Given the description of an element on the screen output the (x, y) to click on. 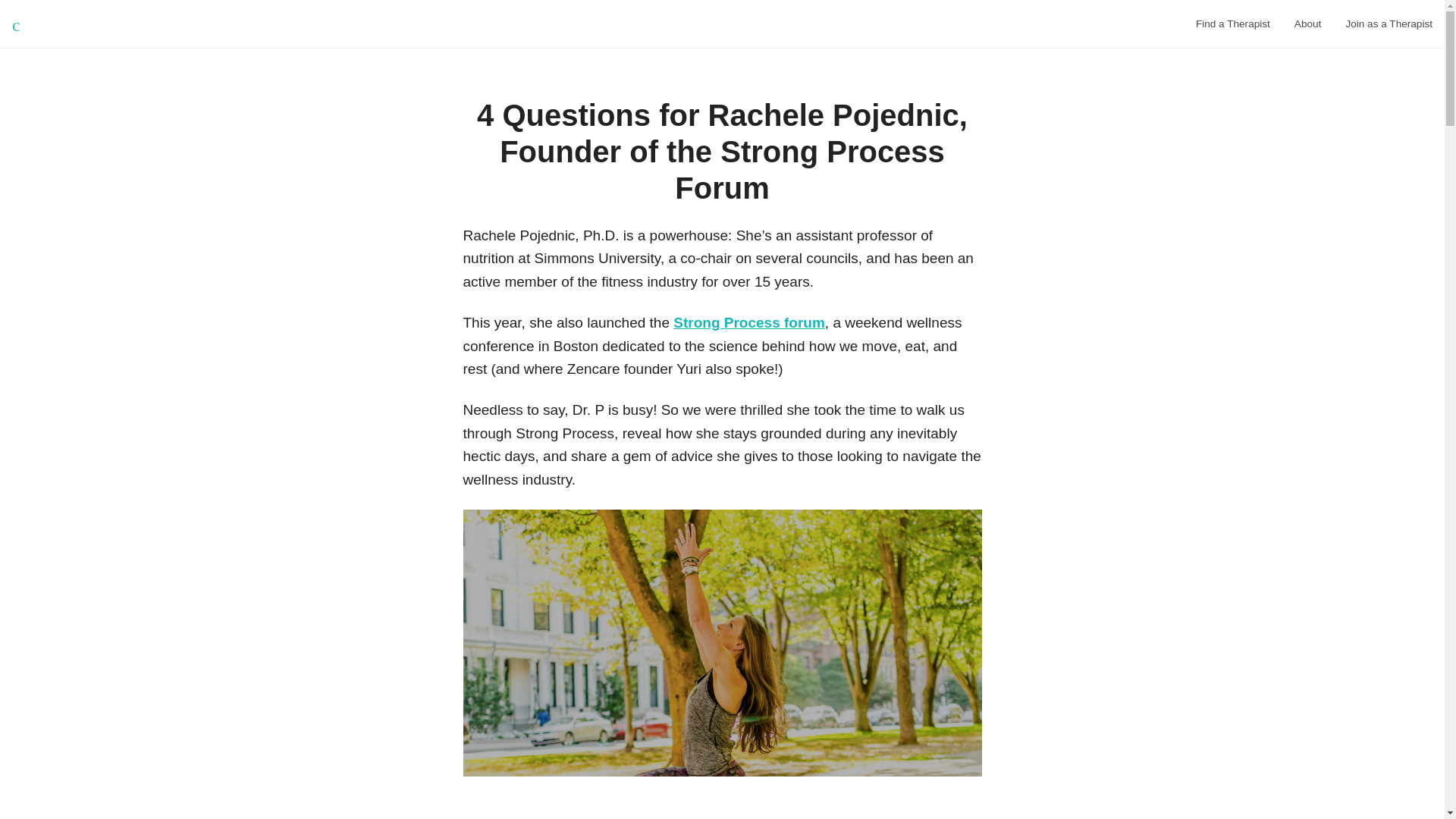
Find a Therapist (1232, 24)
Strong Process forum (748, 322)
About (1307, 24)
